Given the description of an element on the screen output the (x, y) to click on. 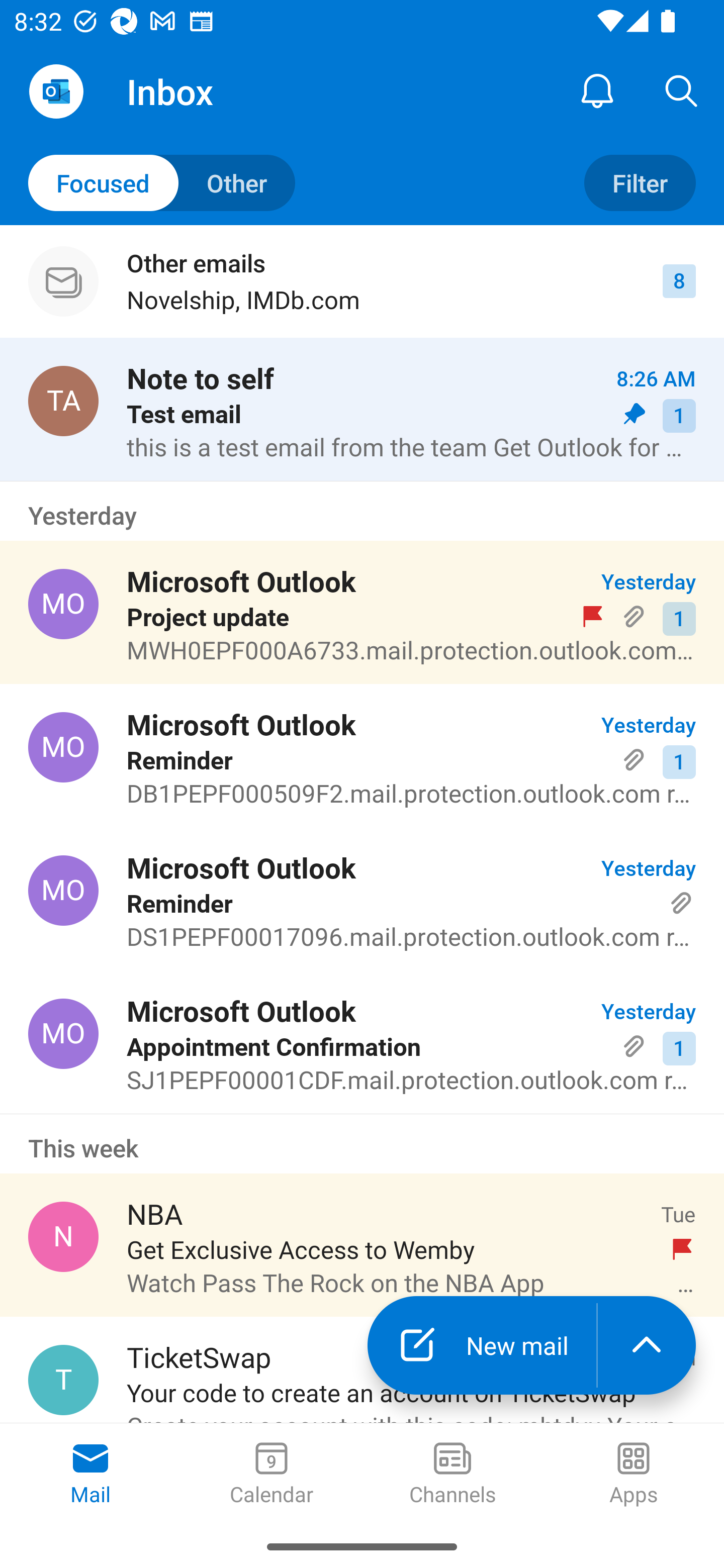
Notification Center (597, 90)
Search, ,  (681, 90)
Open Navigation Drawer (55, 91)
Toggle to other mails (161, 183)
Filter (639, 183)
Other emails Novelship, IMDb.com 8 (362, 281)
Test Appium, testappium002@outlook.com (63, 400)
NBA, NBA@email.nba.com (63, 1236)
New mail (481, 1344)
launch the extended action menu (646, 1344)
TicketSwap, info@ticketswap.com (63, 1380)
Calendar (271, 1474)
Channels (452, 1474)
Apps (633, 1474)
